Given the description of an element on the screen output the (x, y) to click on. 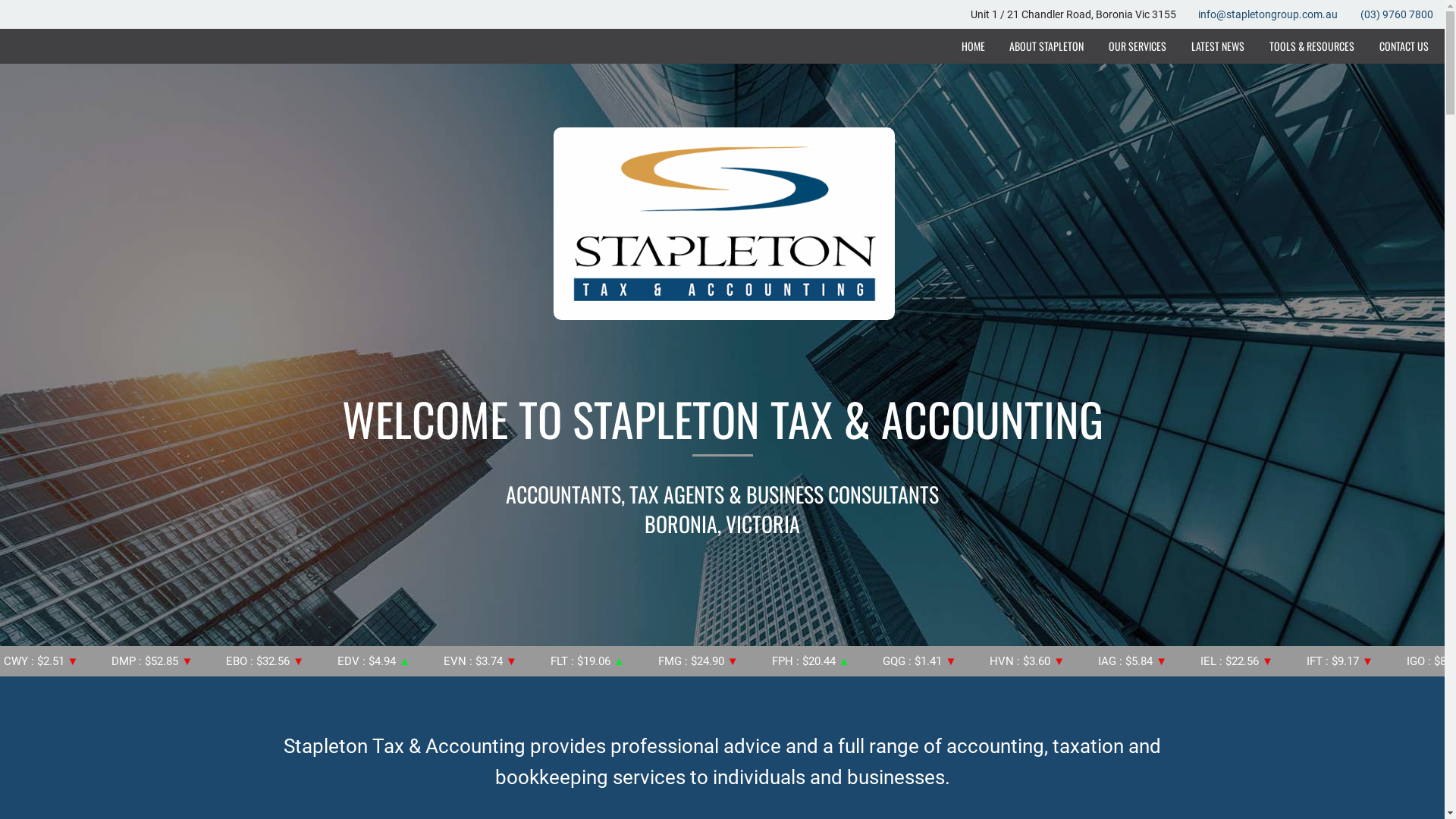
CONTACT US Element type: text (1403, 45)
(03) 9760 7800 Element type: text (1396, 14)
OUR SERVICES Element type: text (1137, 45)
LATEST NEWS Element type: text (1217, 45)
info@stapletongroup.com.au Element type: text (1267, 14)
TOOLS & RESOURCES Element type: text (1311, 45)
ABOUT STAPLETON Element type: text (1046, 45)
HOME Element type: text (972, 45)
